Given the description of an element on the screen output the (x, y) to click on. 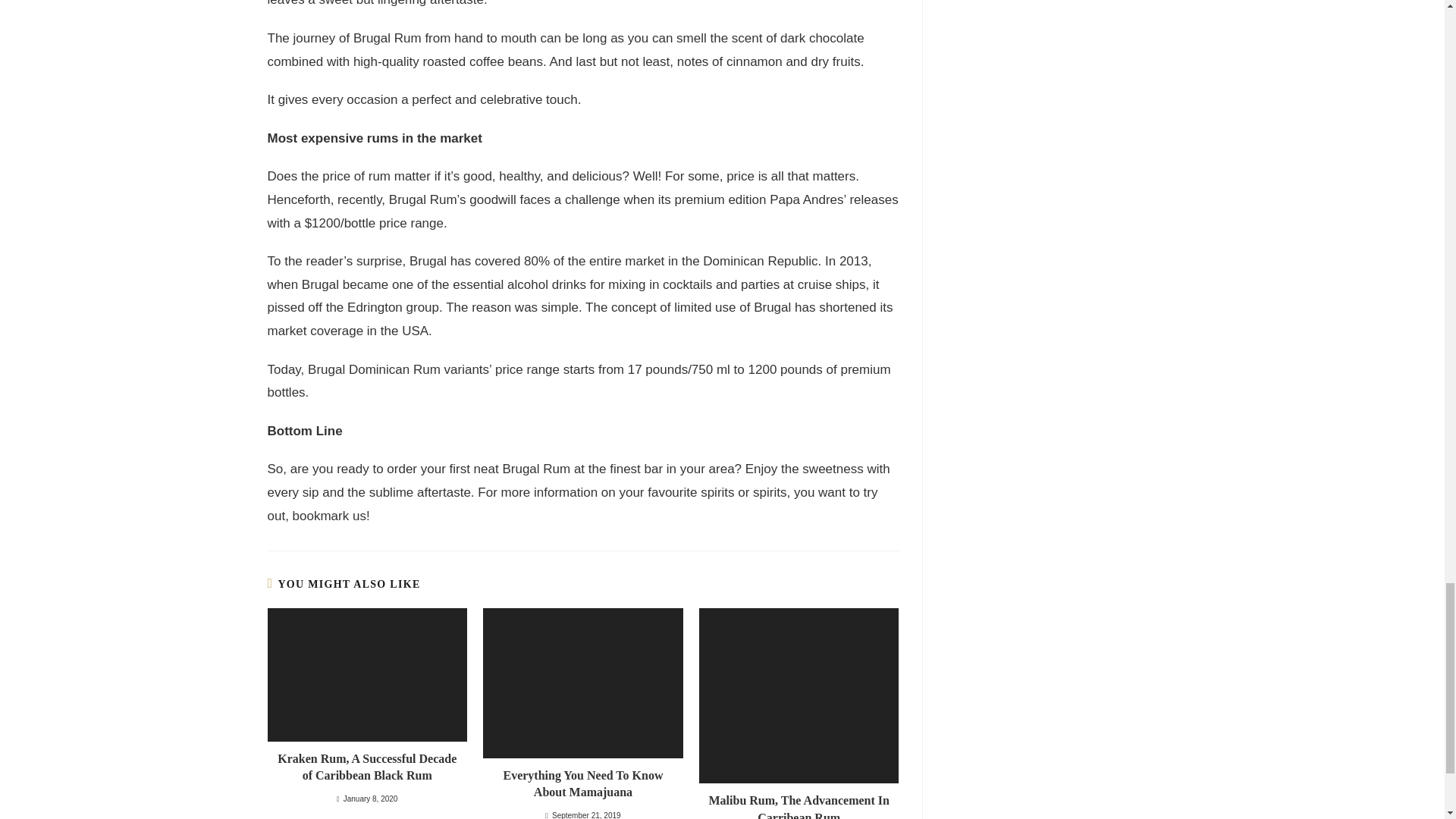
Everything You Need To Know About Mamajuana (582, 784)
Kraken Rum, A Successful Decade of Caribbean Black Rum (366, 767)
Kraken Rum, A Successful Decade of Caribbean Black Rum (366, 767)
Malibu Rum, The Advancement In Carribean Rum (798, 805)
Malibu Rum, The Advancement In Carribean Rum (798, 805)
Everything You Need To Know About Mamajuana (582, 784)
